Given the description of an element on the screen output the (x, y) to click on. 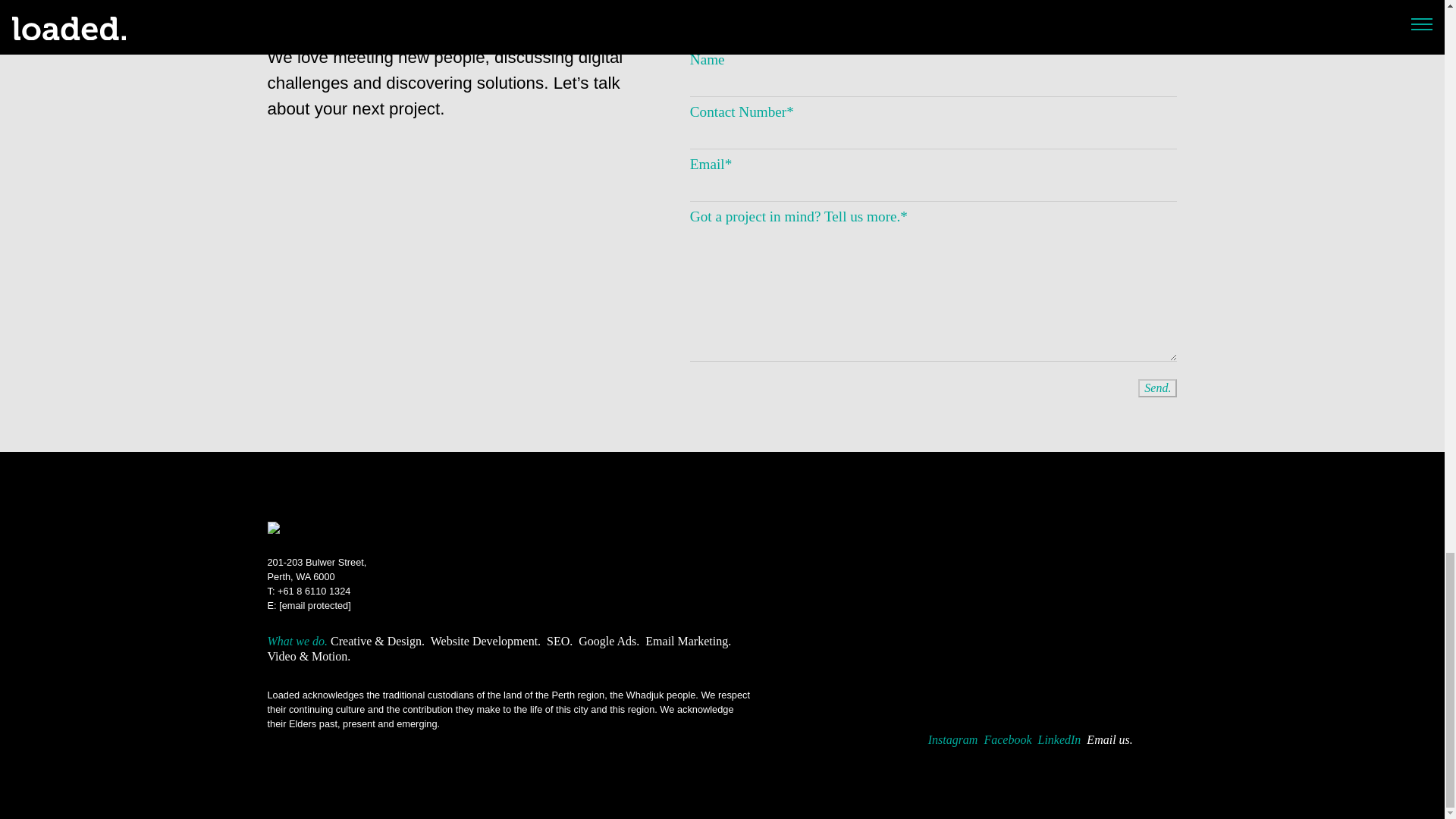
Facebook (1007, 739)
LinkedIn (1058, 739)
Google Ads. (316, 569)
Email Marketing Expertise (608, 640)
Email us. (687, 640)
WordPress Website Design Perth (1109, 739)
Send. (485, 640)
SEO Perth (1157, 388)
Website Development. (559, 640)
Google Ads and Digital Marketing Expertise (485, 640)
Send. (608, 640)
Instagram (1157, 388)
SEO. (953, 739)
Email Marketing. (559, 640)
